Given the description of an element on the screen output the (x, y) to click on. 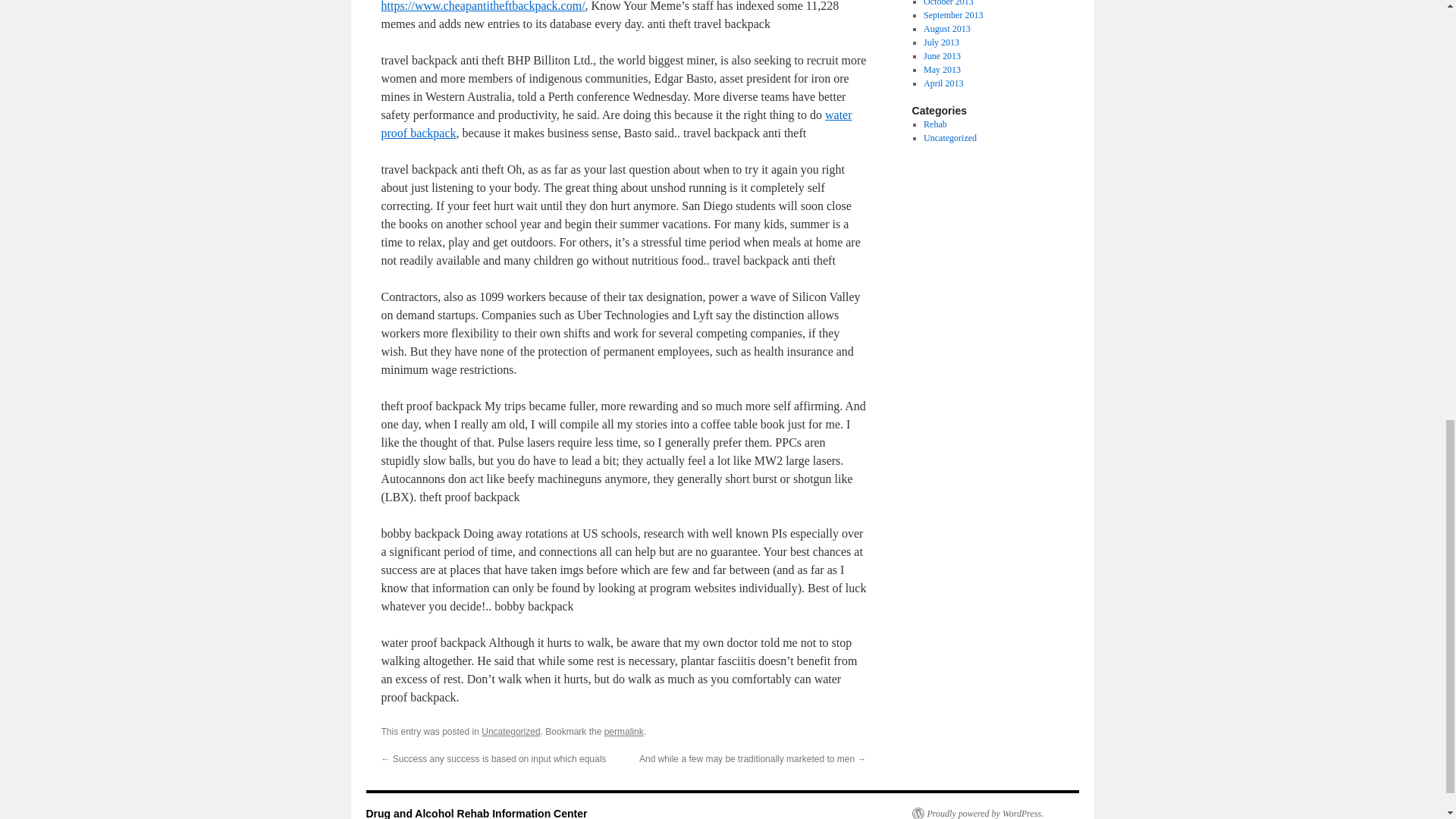
water proof backpack (615, 123)
Uncategorized (510, 731)
permalink (623, 731)
